Given the description of an element on the screen output the (x, y) to click on. 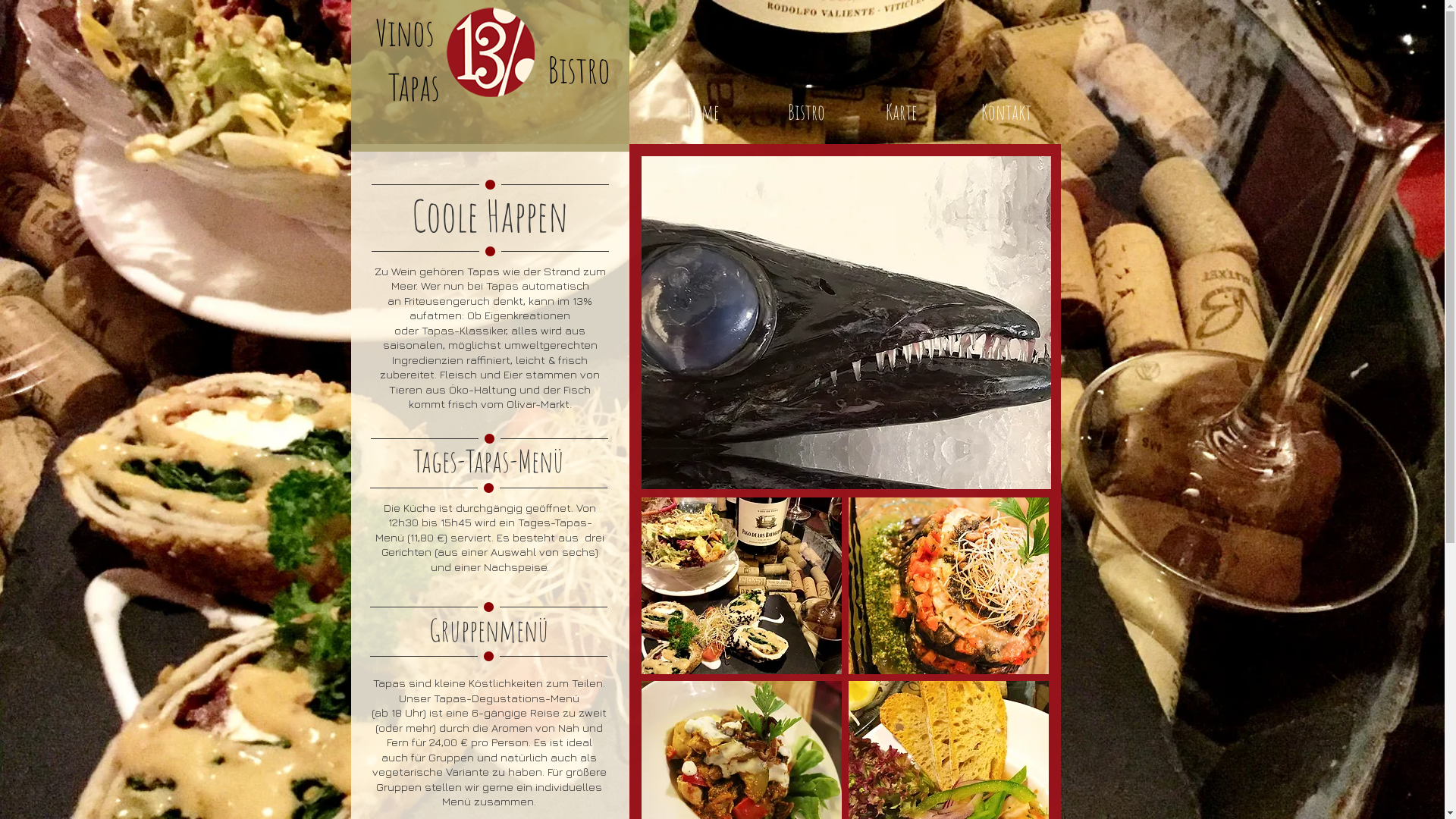
Home Element type: text (702, 112)
